Given the description of an element on the screen output the (x, y) to click on. 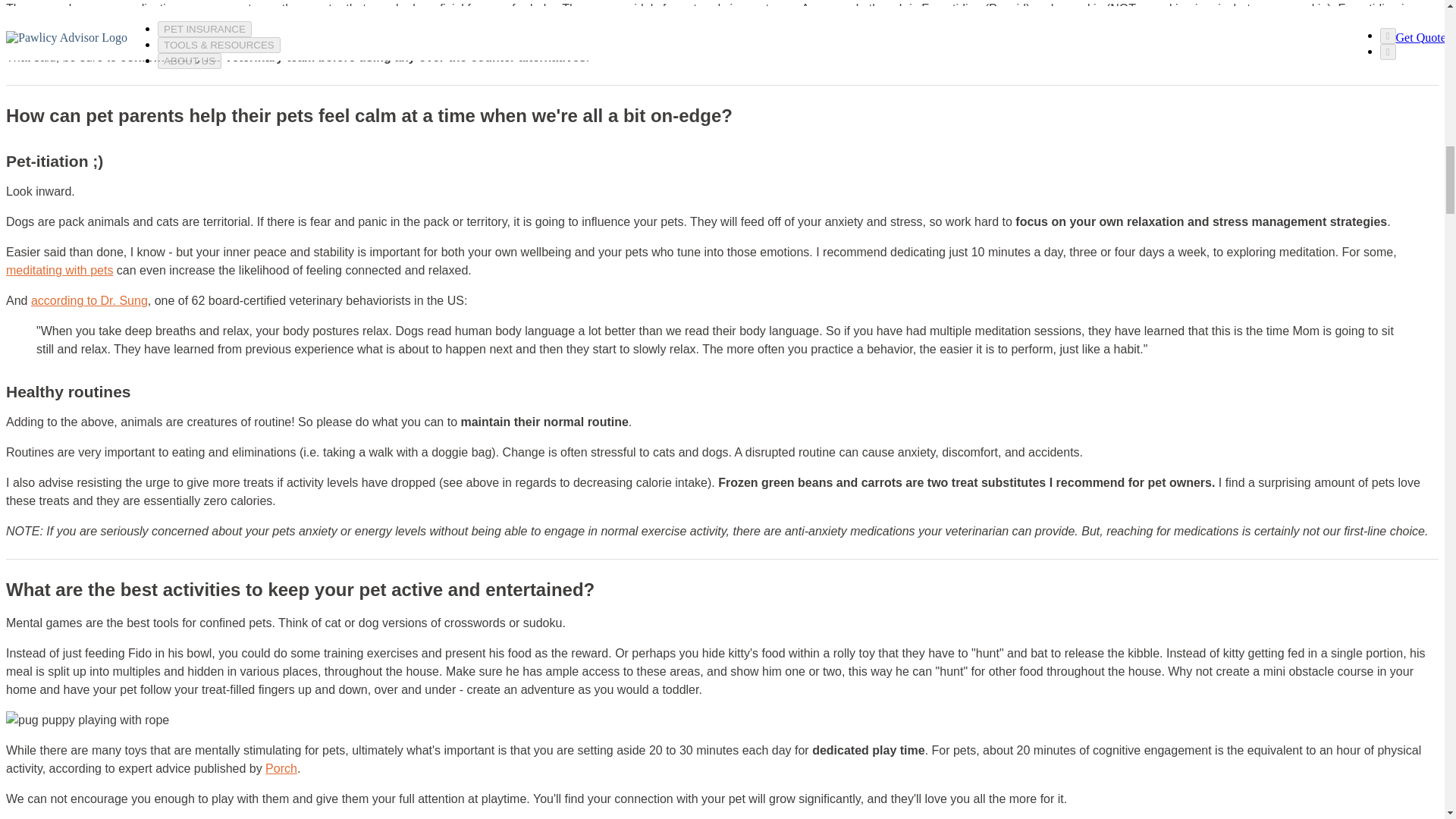
Porch (280, 768)
according to Dr. Sung (89, 300)
meditating with pets (59, 269)
